Given the description of an element on the screen output the (x, y) to click on. 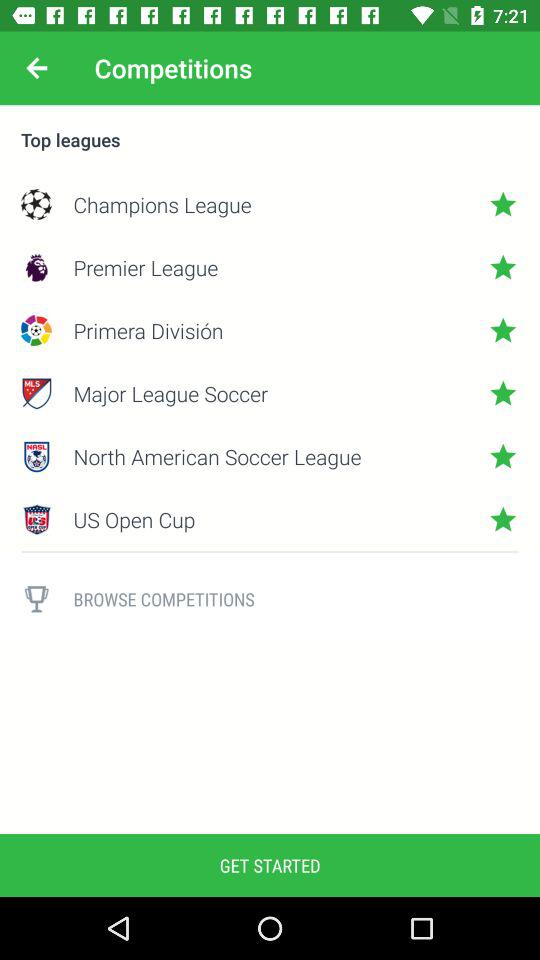
select item above the browse competitions icon (270, 551)
